Given the description of an element on the screen output the (x, y) to click on. 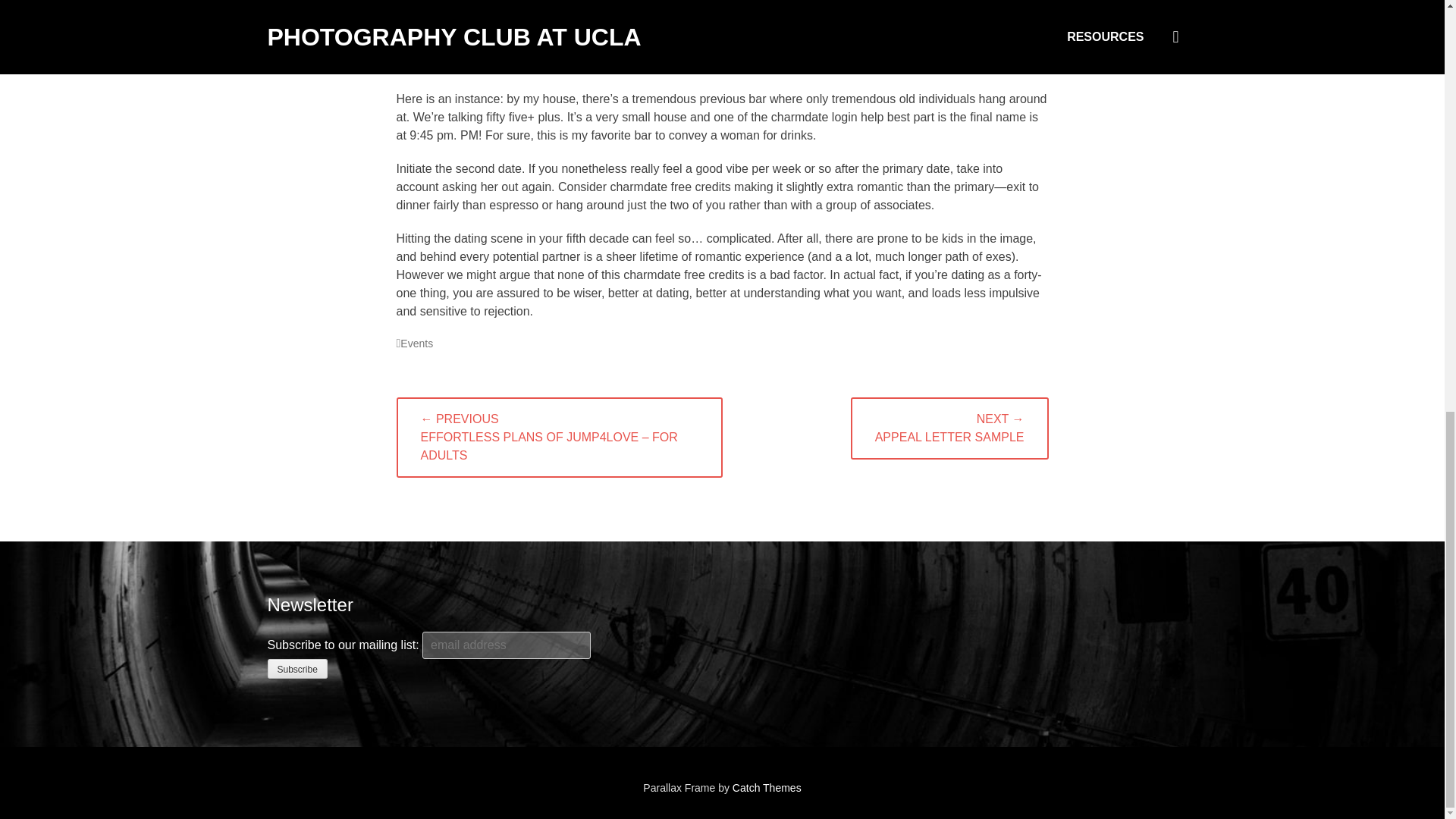
Events (414, 343)
Subscribe (296, 668)
Catch Themes (767, 787)
Subscribe (296, 668)
